Given the description of an element on the screen output the (x, y) to click on. 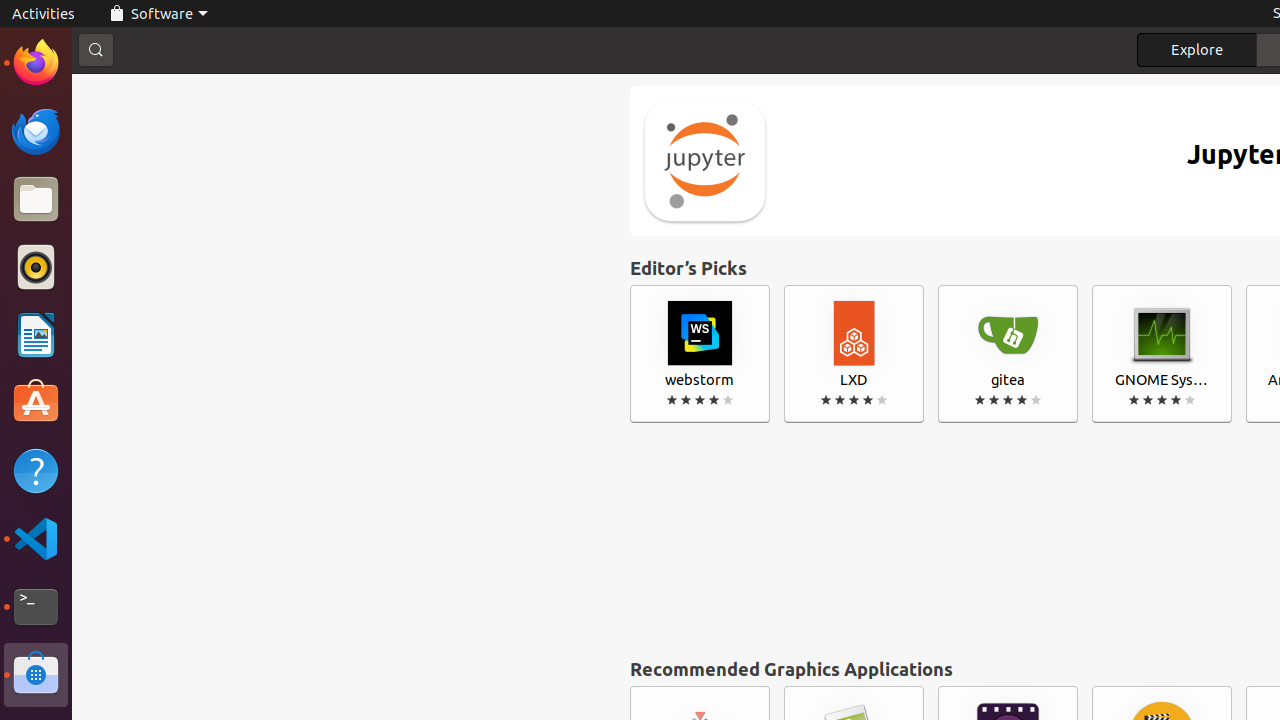
GNOME System Monitor Element type: push-button (1162, 354)
Activities Element type: label (43, 13)
li.txt Element type: label (259, 89)
webstorm Element type: push-button (700, 354)
